Given the description of an element on the screen output the (x, y) to click on. 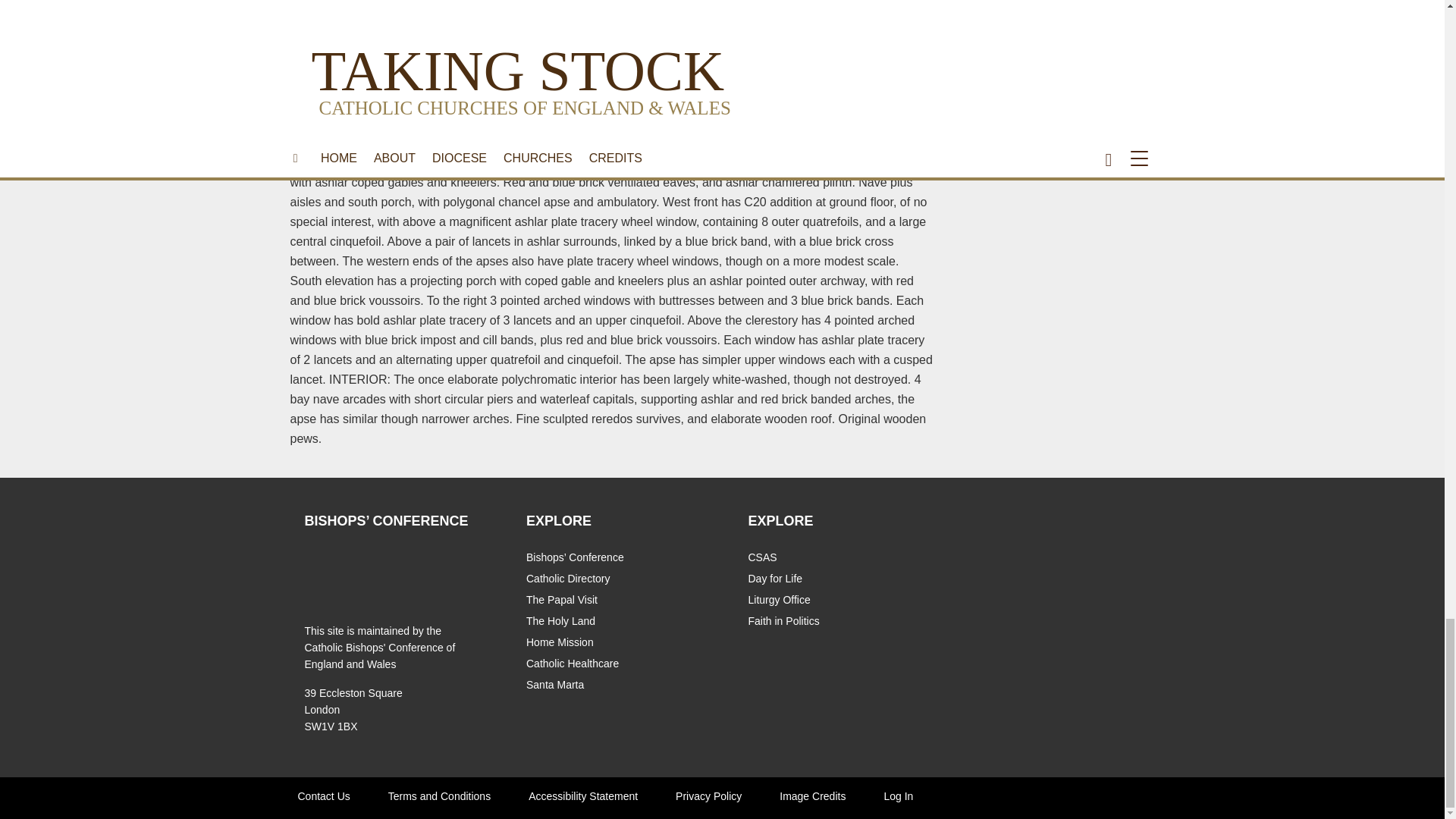
Bishops' Conference (327, 569)
